Given the description of an element on the screen output the (x, y) to click on. 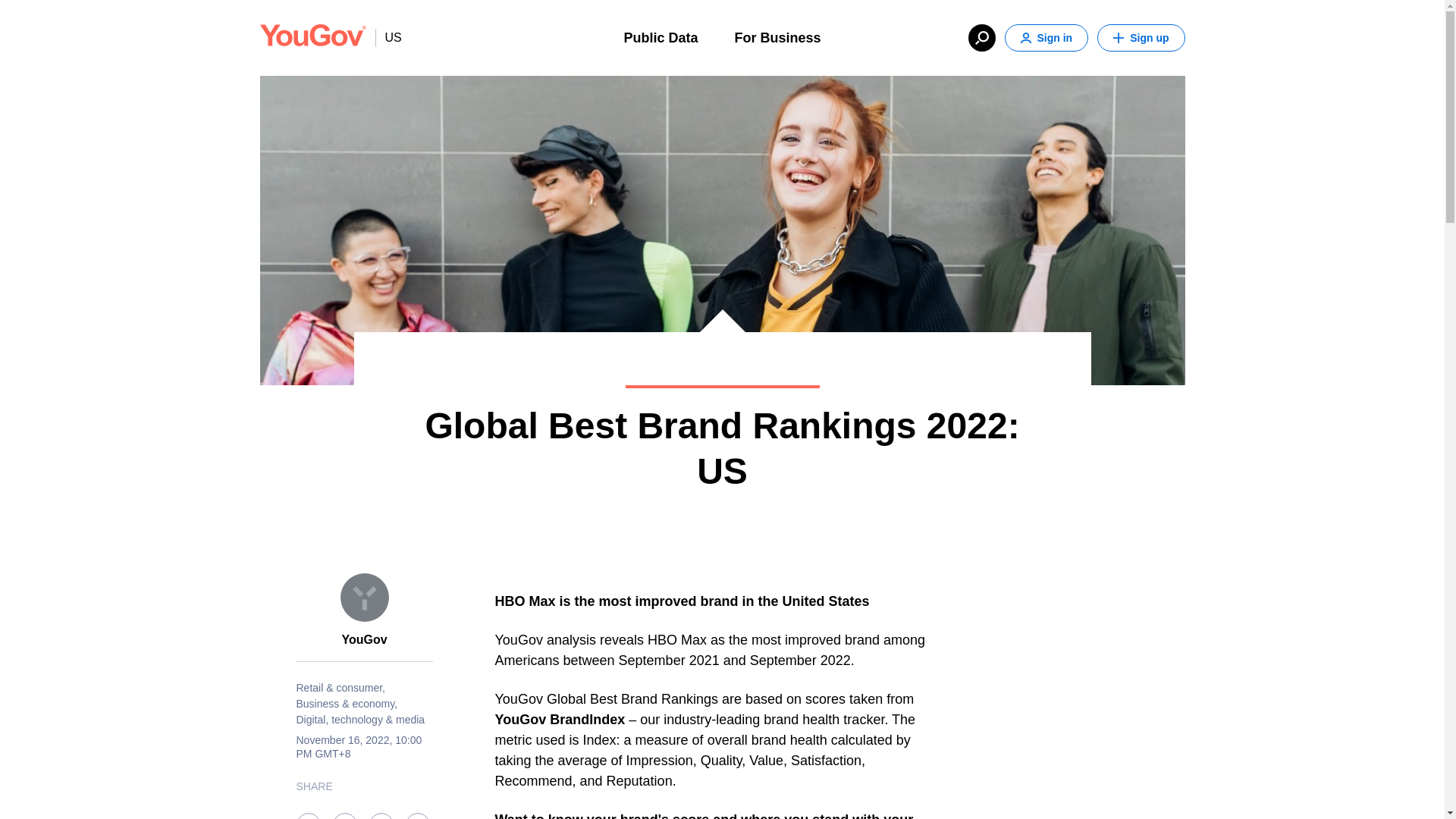
For Business (777, 37)
Sign in (1045, 37)
Public Data (660, 37)
US (387, 37)
Sign up (1141, 37)
